Given the description of an element on the screen output the (x, y) to click on. 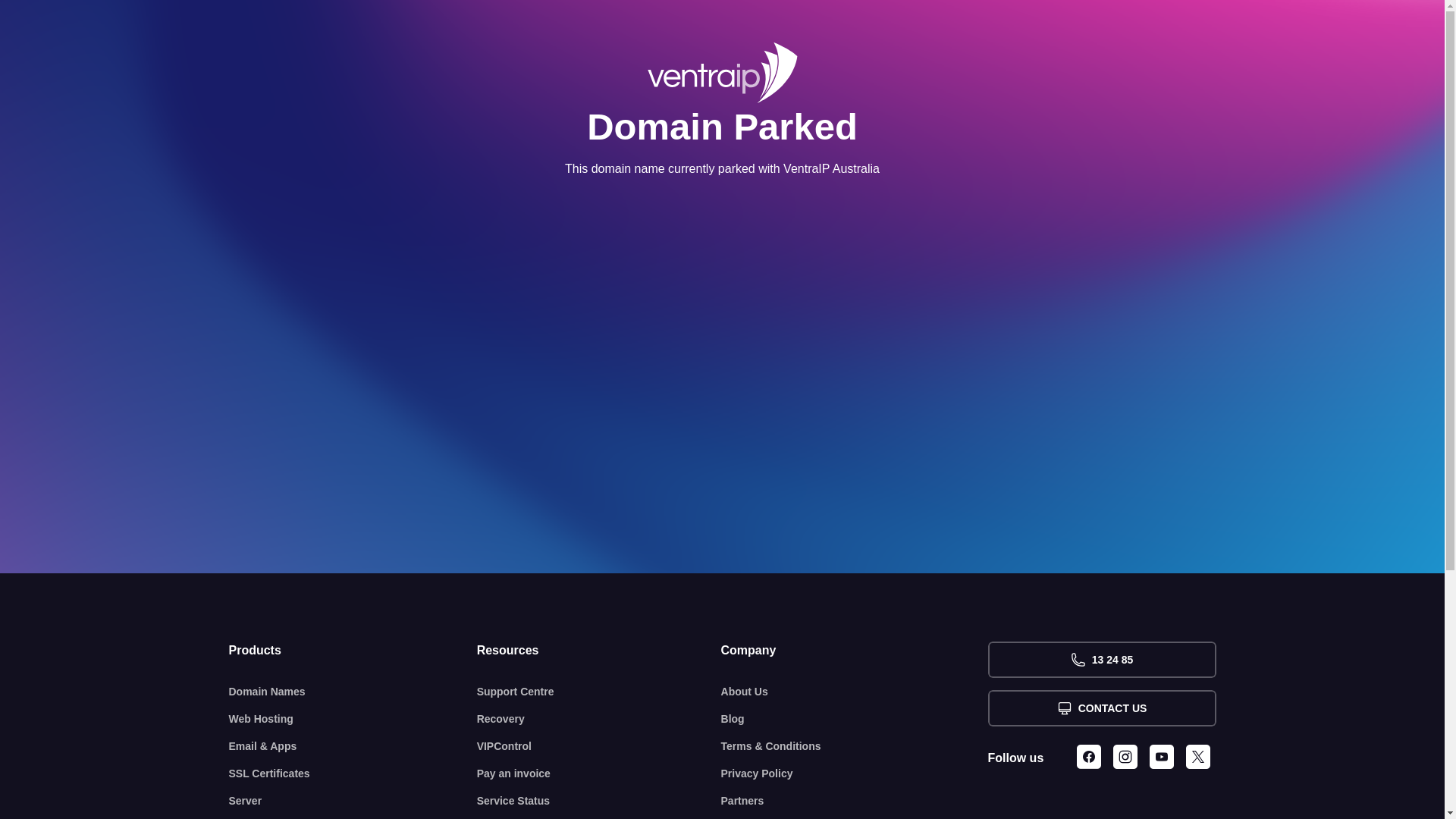
Email & Apps Element type: text (352, 745)
Server Element type: text (352, 800)
Service Status Element type: text (598, 800)
Pay an invoice Element type: text (598, 773)
Support Centre Element type: text (598, 691)
Partners Element type: text (854, 800)
Web Hosting Element type: text (352, 718)
Privacy Policy Element type: text (854, 773)
VIPControl Element type: text (598, 745)
CONTACT US Element type: text (1101, 708)
SSL Certificates Element type: text (352, 773)
Terms & Conditions Element type: text (854, 745)
Recovery Element type: text (598, 718)
Blog Element type: text (854, 718)
About Us Element type: text (854, 691)
13 24 85 Element type: text (1101, 659)
Domain Names Element type: text (352, 691)
